Given the description of an element on the screen output the (x, y) to click on. 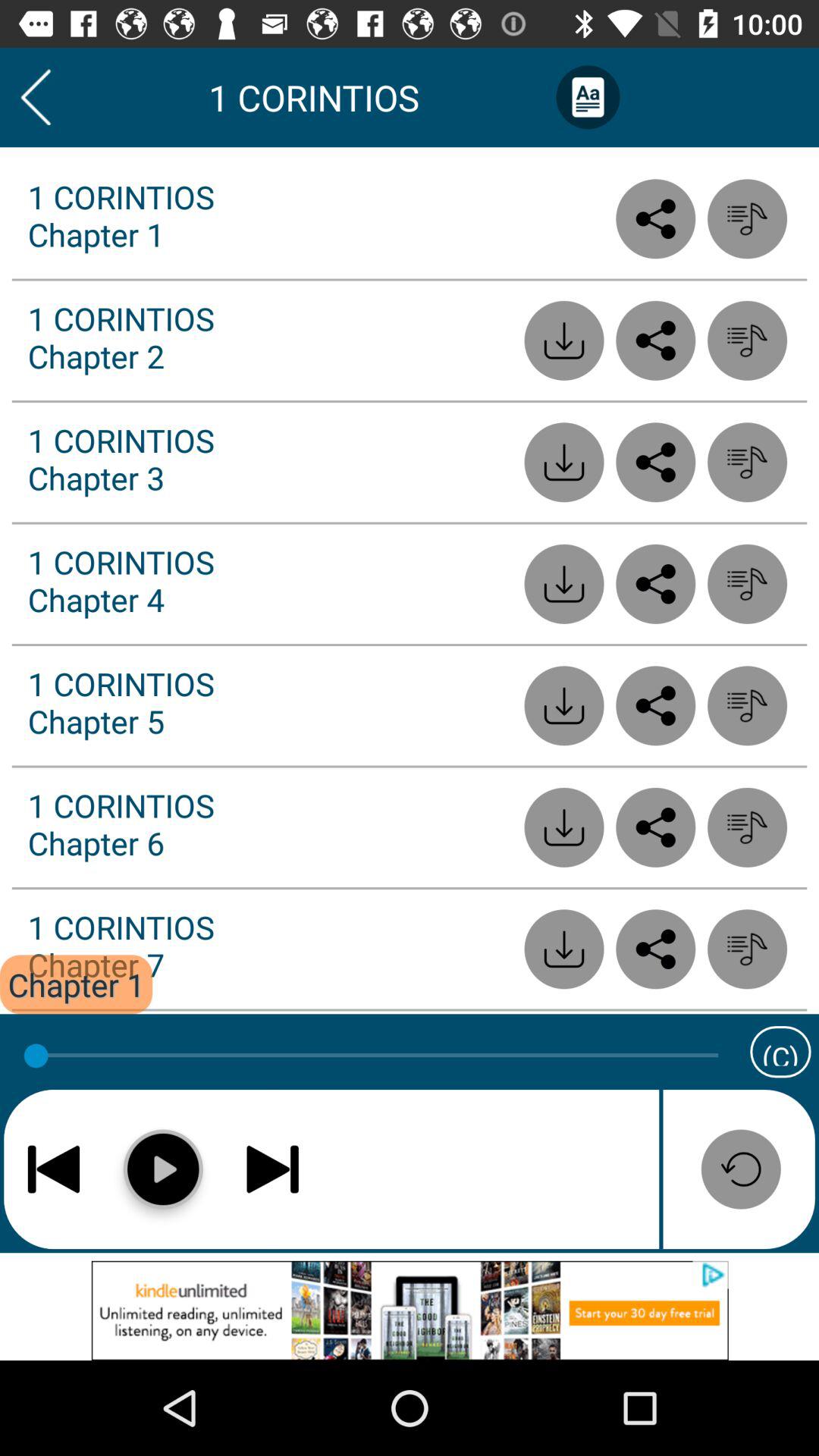
add it to the playlist (747, 340)
